Given the description of an element on the screen output the (x, y) to click on. 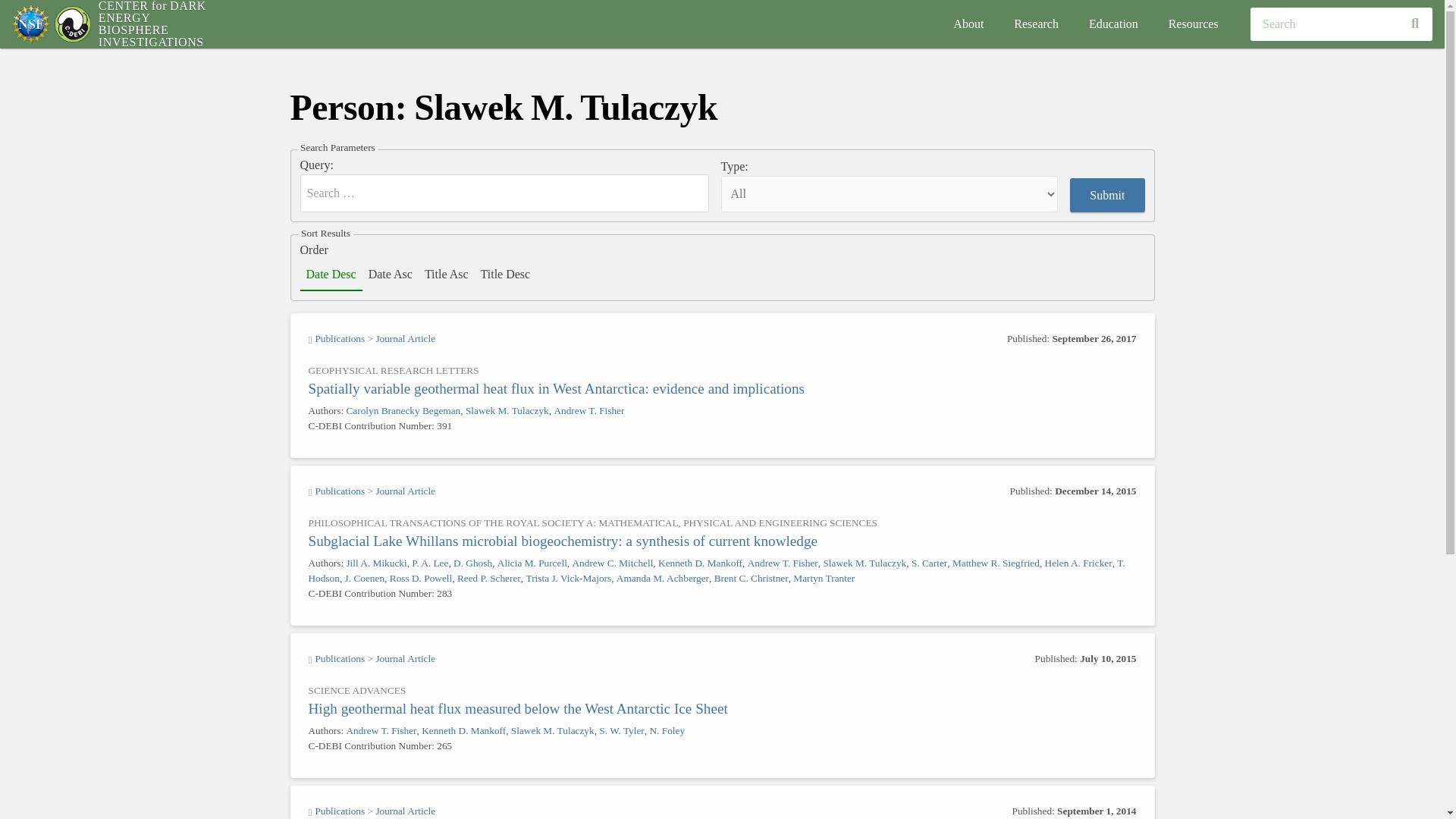
About (967, 24)
Research (1036, 24)
Search for: (504, 193)
Submit (1107, 195)
CENTER for DARK ENERGY BIOSPHERE INVESTIGATIONS (152, 24)
Submit (1107, 195)
Education (1113, 24)
